Given the description of an element on the screen output the (x, y) to click on. 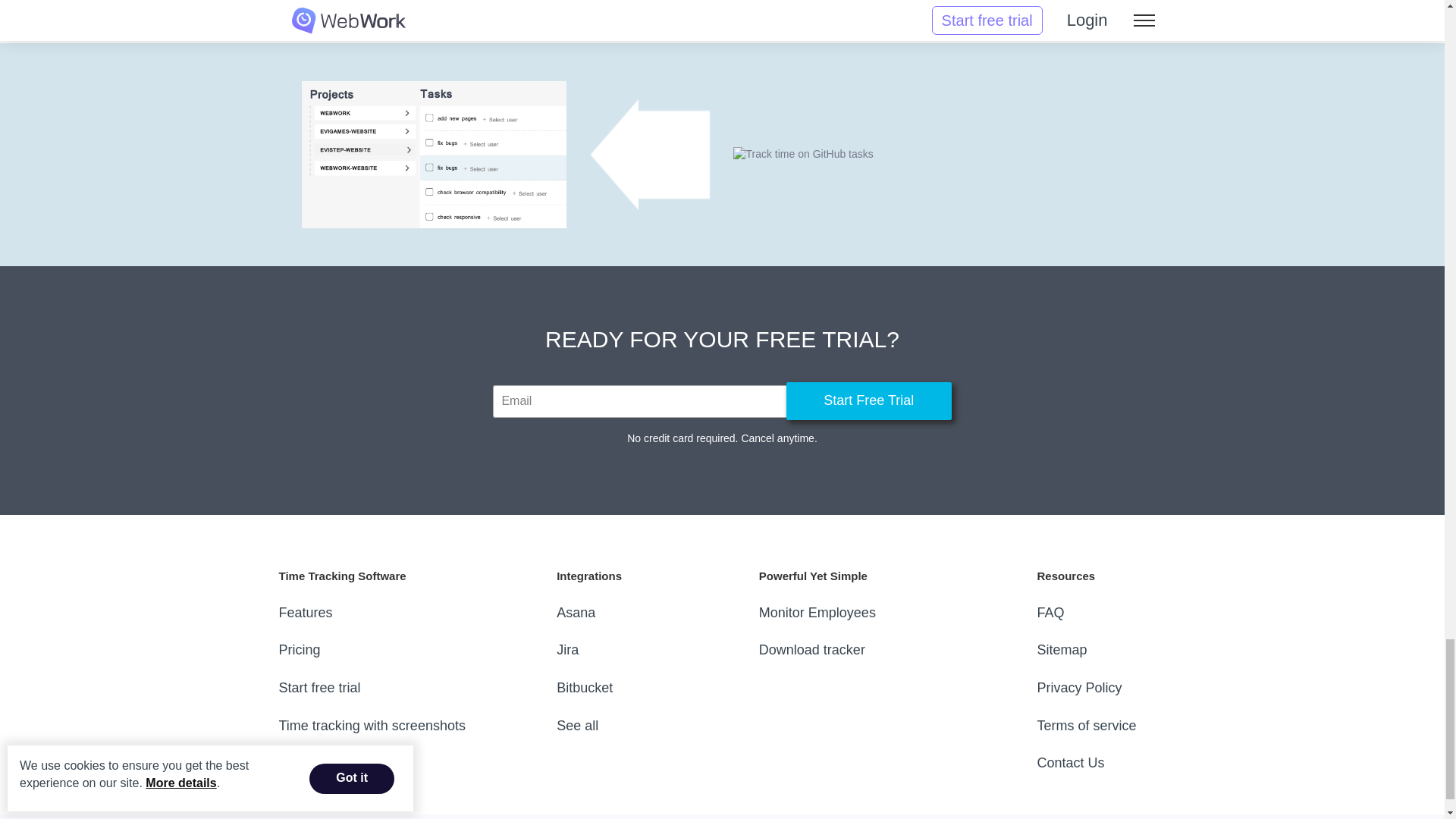
Pricing (299, 649)
Jira (567, 649)
Monitor Employees (817, 612)
Terms of service (1085, 725)
Privacy Policy (1078, 687)
Time tracking with screenshots (372, 725)
Asana (575, 612)
Download tracker (811, 649)
See all (577, 725)
Bitbucket (584, 687)
Contact Us (1069, 762)
FAQ (1050, 612)
Start free trial (320, 687)
Features (306, 612)
